Given the description of an element on the screen output the (x, y) to click on. 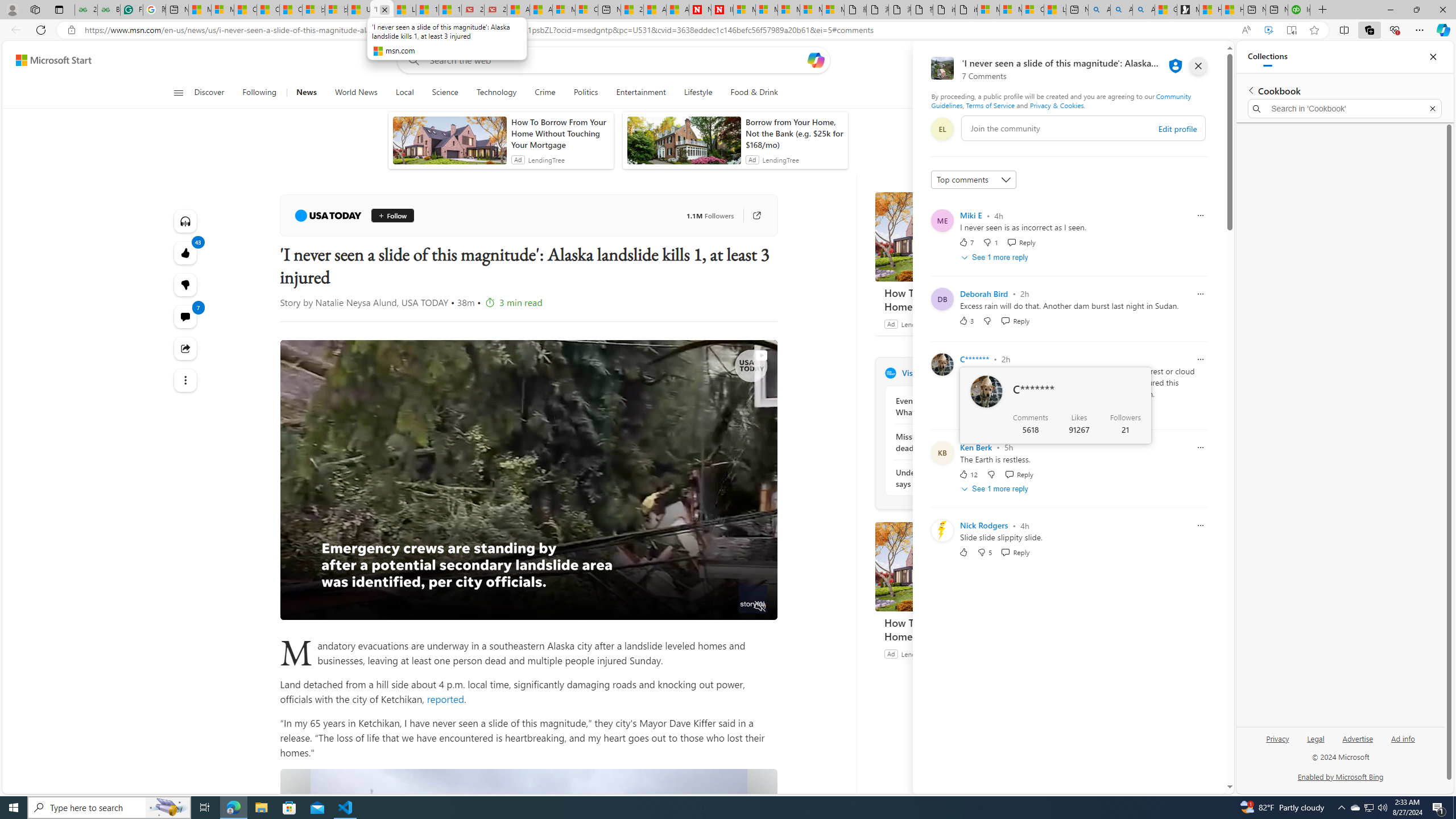
Seek Forward (341, 606)
Visit USA TODAY website (1031, 372)
Terms of Service (989, 104)
Share this story (184, 348)
5 Like (965, 408)
View on Watch (761, 355)
Cloud Computing Services | Microsoft Azure (586, 9)
Profile Picture (941, 530)
Fullscreen (737, 606)
